Given the description of an element on the screen output the (x, y) to click on. 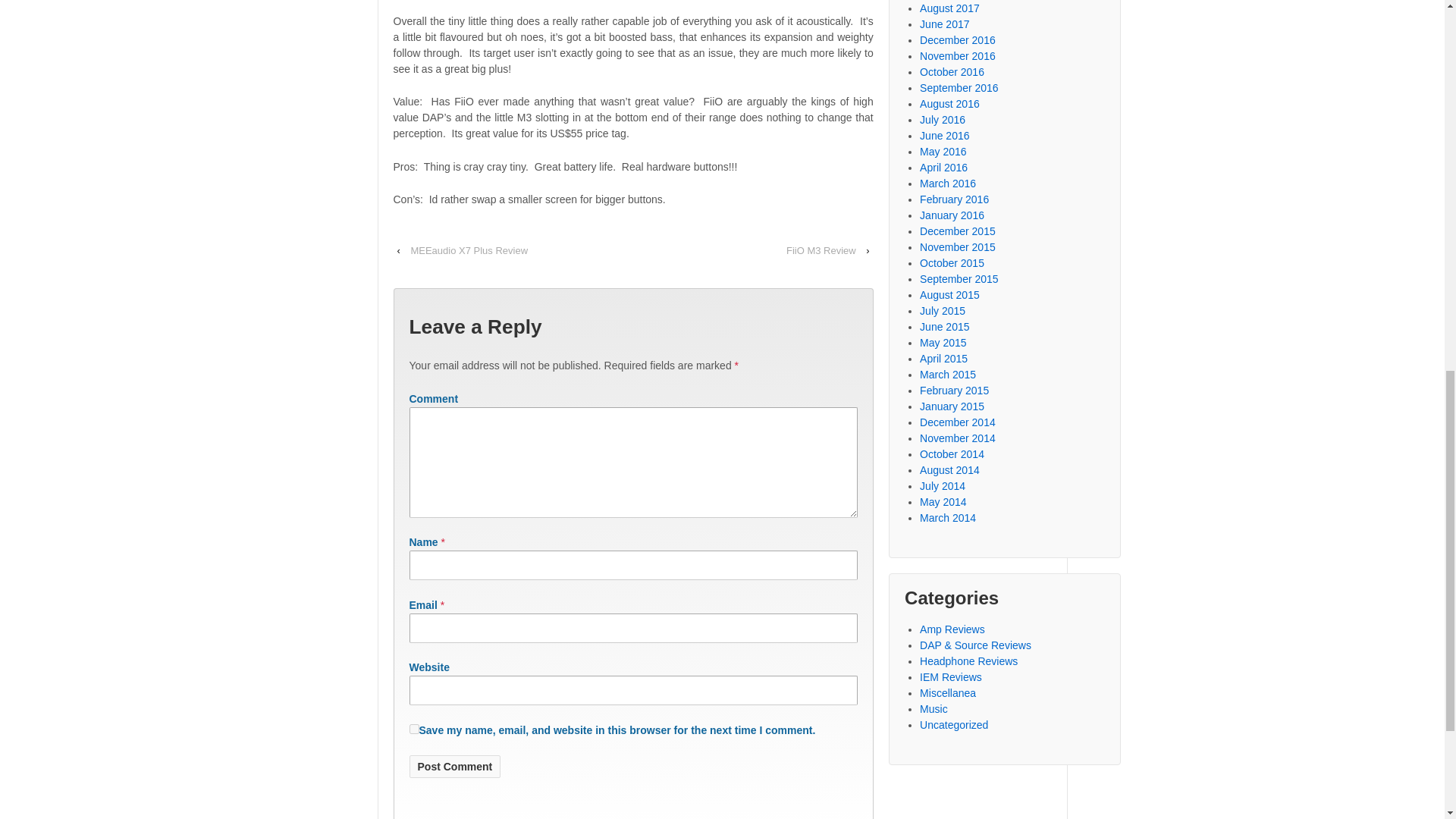
November 2016 (957, 55)
Post Comment (454, 766)
August 2017 (949, 8)
June 2017 (944, 24)
August 2016 (949, 103)
FiiO M3 Review (820, 250)
October 2016 (952, 71)
Post Comment (454, 766)
September 2016 (959, 87)
yes (414, 728)
MEEaudio X7 Plus Review (469, 250)
December 2016 (957, 39)
